Given the description of an element on the screen output the (x, y) to click on. 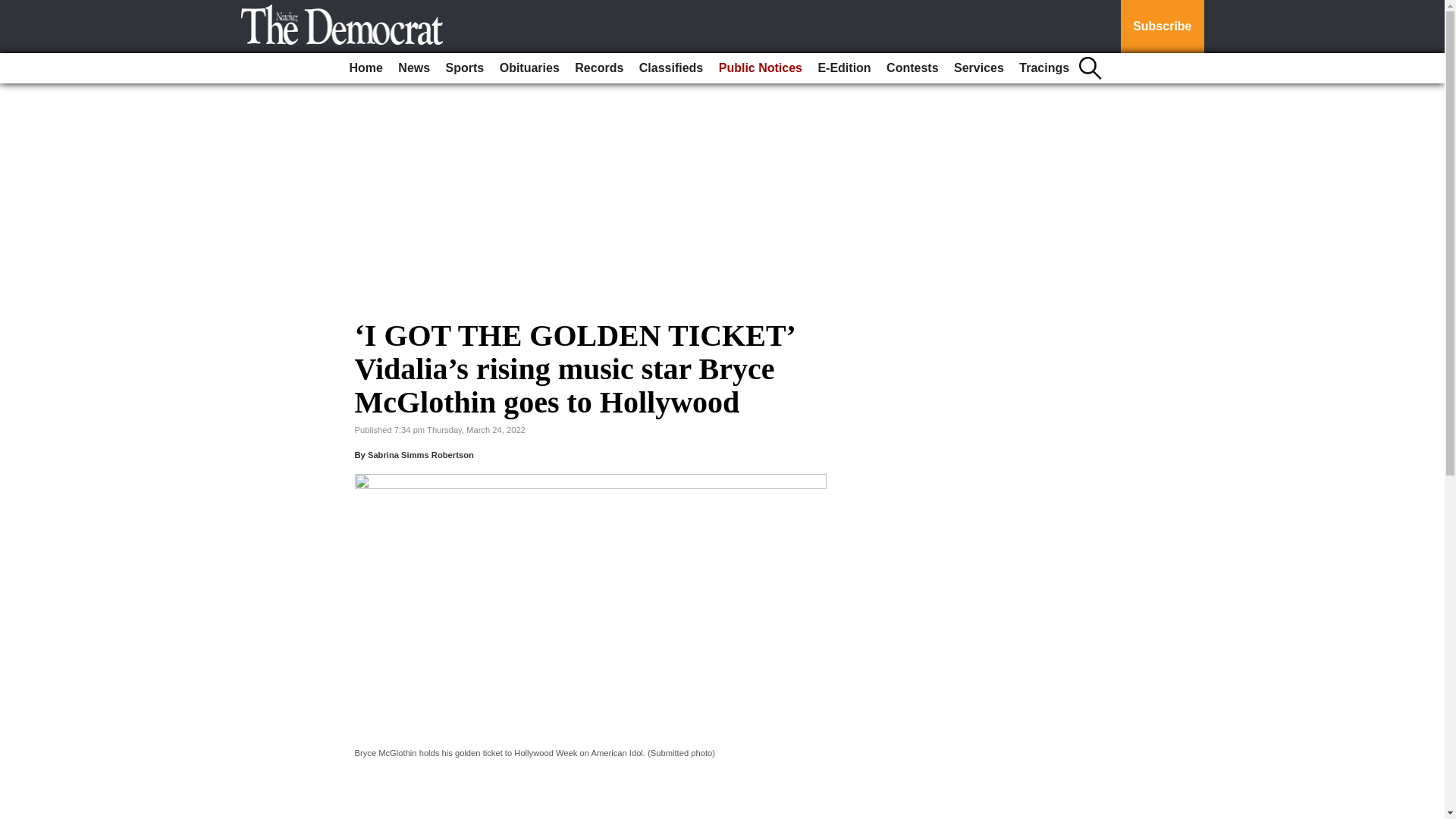
Public Notices (760, 68)
Contests (911, 68)
Sports (464, 68)
Obituaries (529, 68)
Classifieds (671, 68)
Home (365, 68)
News (413, 68)
Services (978, 68)
Go (13, 9)
Tracings (1044, 68)
Records (598, 68)
Sabrina Simms Robertson (421, 454)
E-Edition (843, 68)
Subscribe (1162, 26)
